Given the description of an element on the screen output the (x, y) to click on. 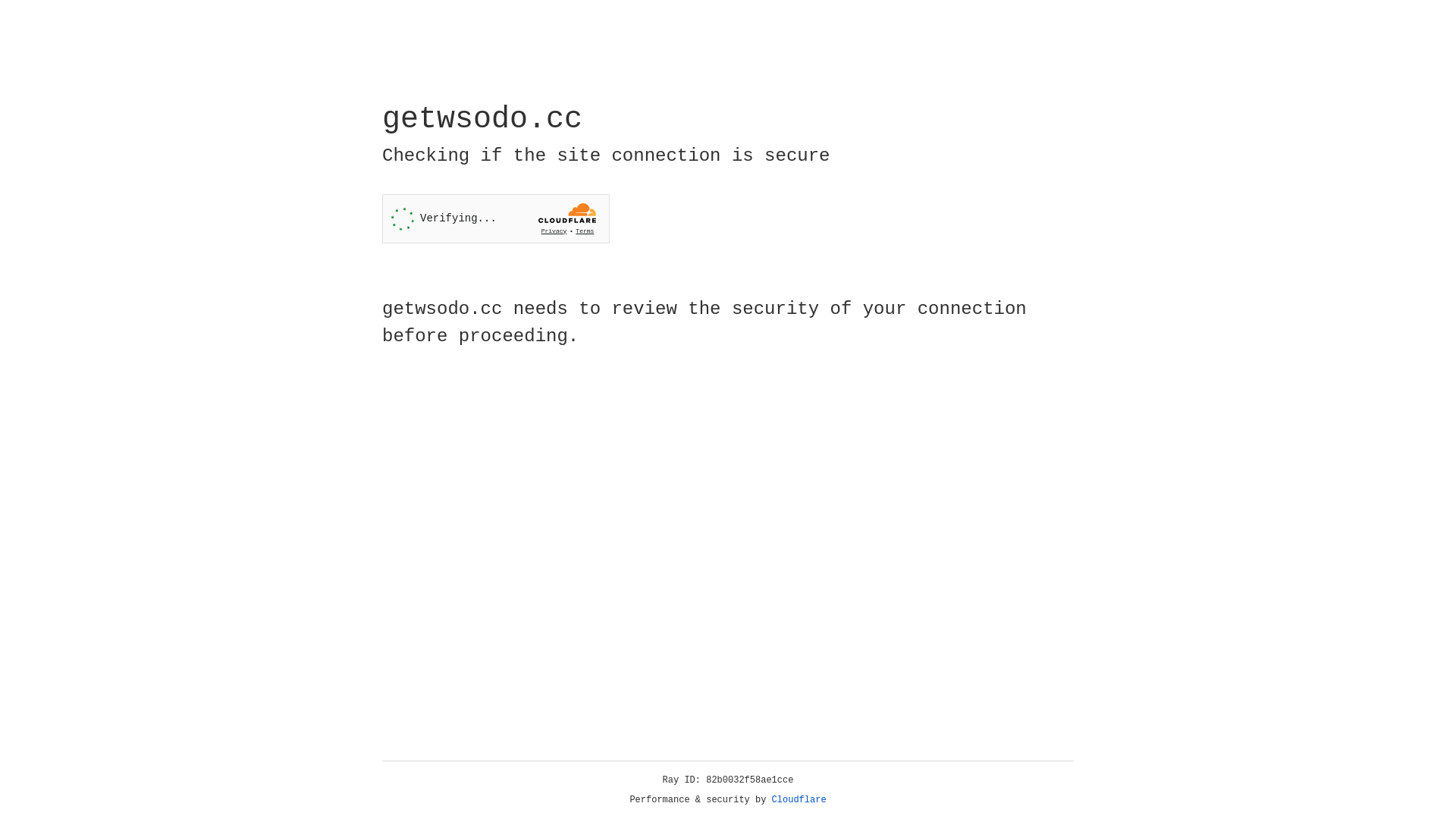
Cloudflare Element type: text (798, 799)
Widget containing a Cloudflare security challenge Element type: hover (495, 218)
